Given the description of an element on the screen output the (x, y) to click on. 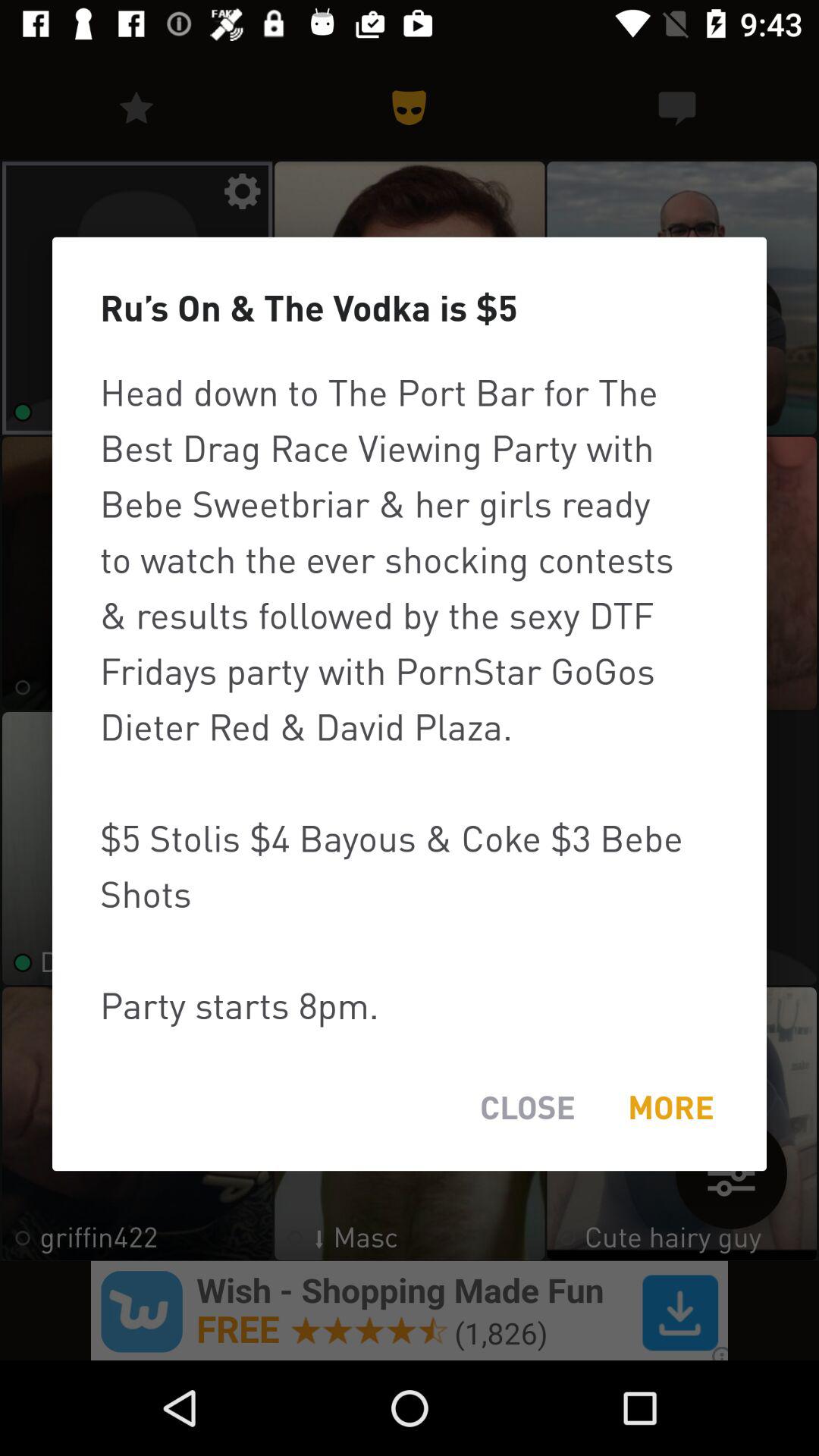
launch item at the bottom (527, 1107)
